Given the description of an element on the screen output the (x, y) to click on. 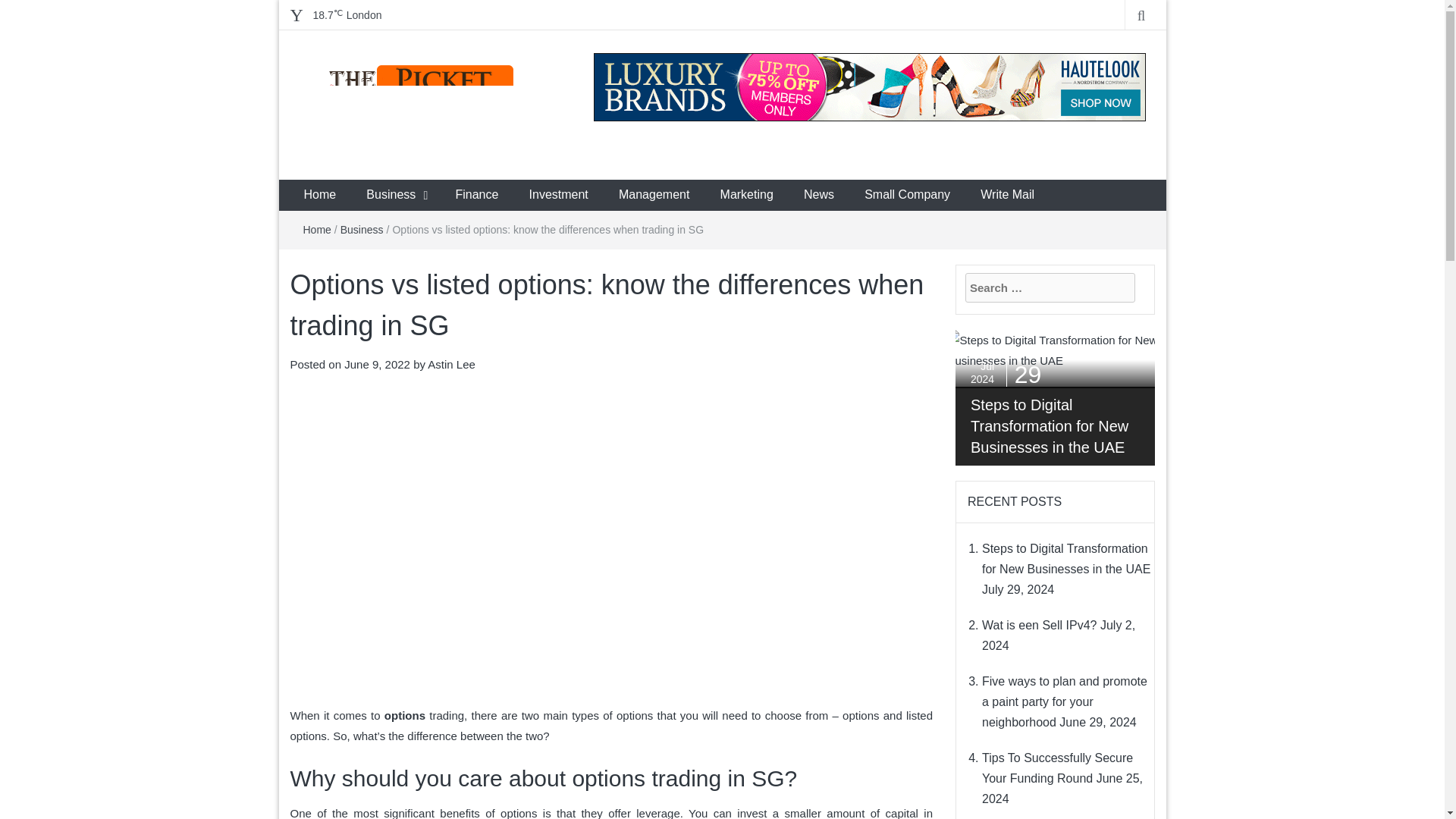
News (818, 194)
Home (316, 229)
Astin Lee (452, 364)
Small Company (906, 194)
Investment (558, 194)
Management (654, 194)
Clouds (347, 14)
Business (362, 229)
Home (319, 194)
